Given the description of an element on the screen output the (x, y) to click on. 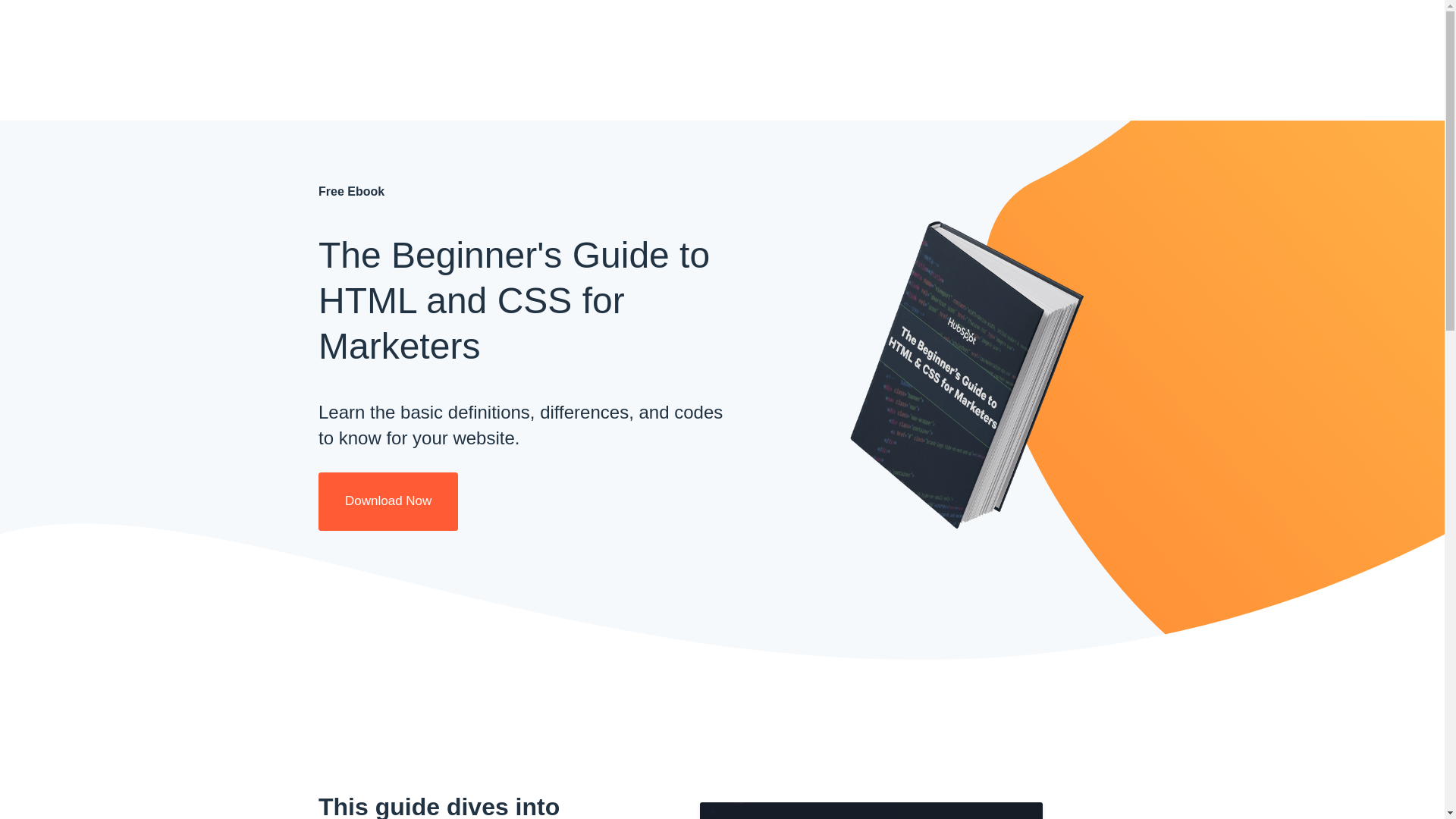
Download Now (388, 501)
